Given the description of an element on the screen output the (x, y) to click on. 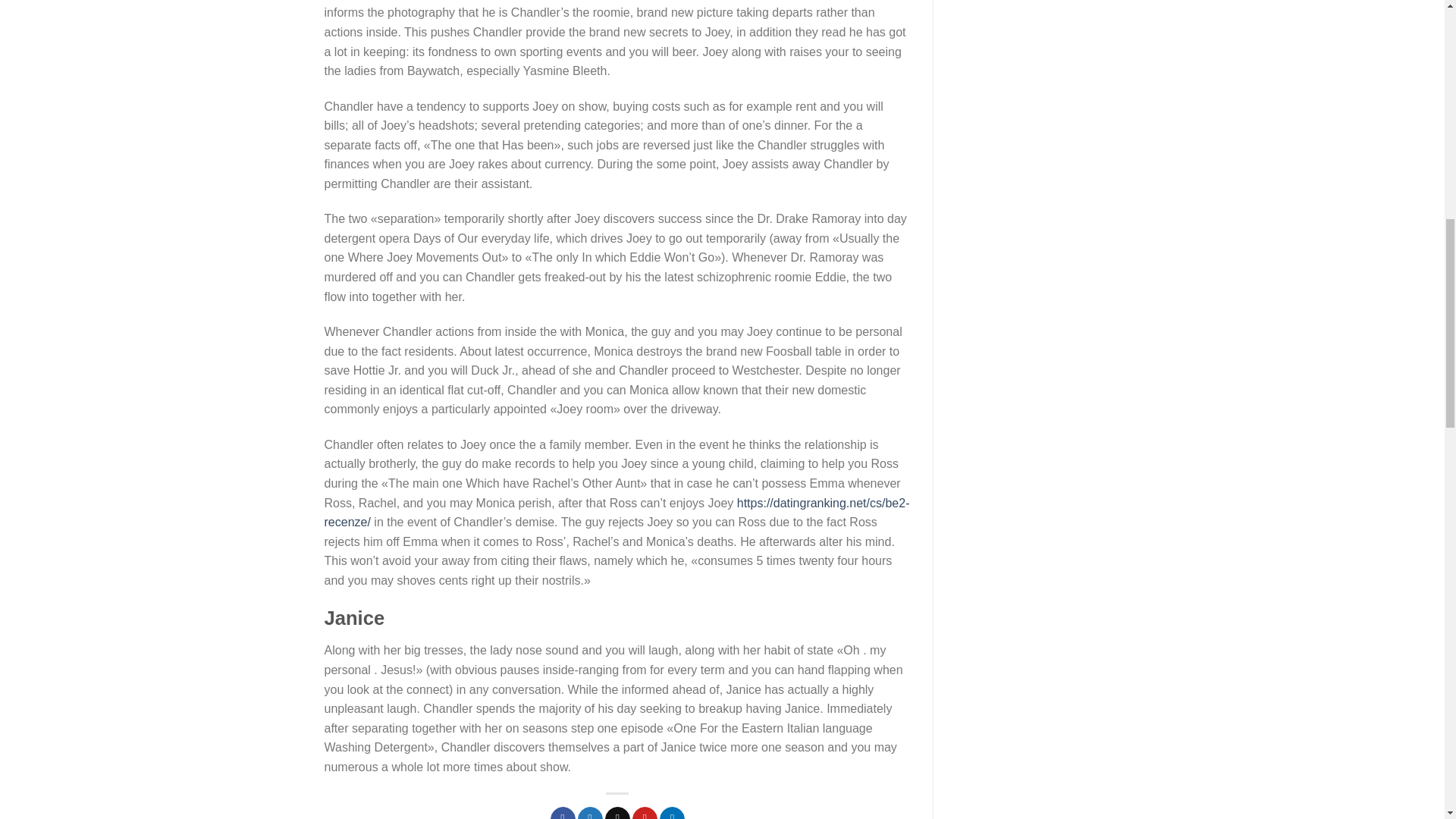
Share on LinkedIn (671, 812)
Pinear en Pinterest (644, 812)
Compartir en Facebook (562, 812)
Compartir en Twitter (590, 812)
